Given the description of an element on the screen output the (x, y) to click on. 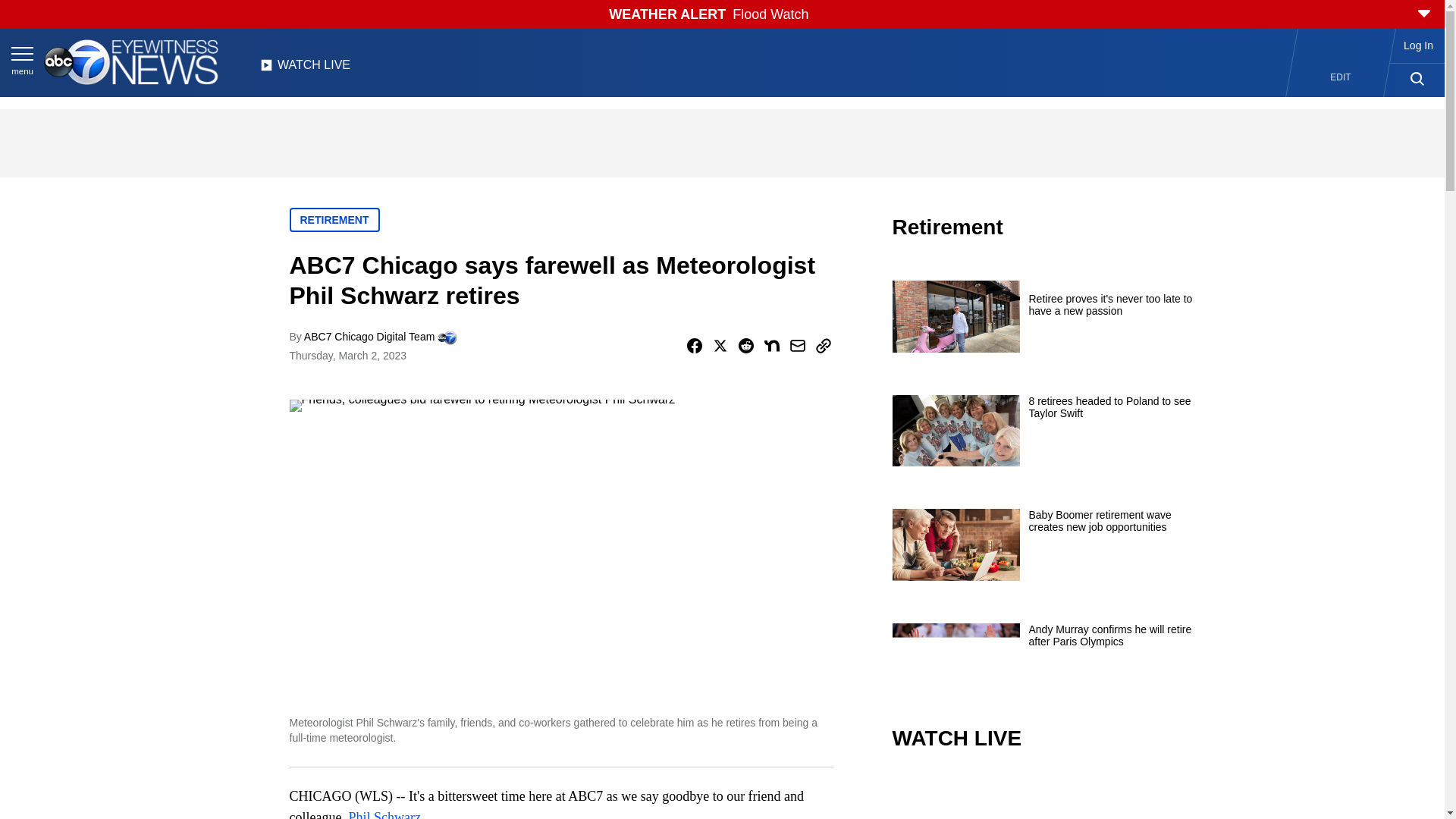
video.title (1043, 796)
WATCH LIVE (305, 69)
EDIT (1340, 77)
